Given the description of an element on the screen output the (x, y) to click on. 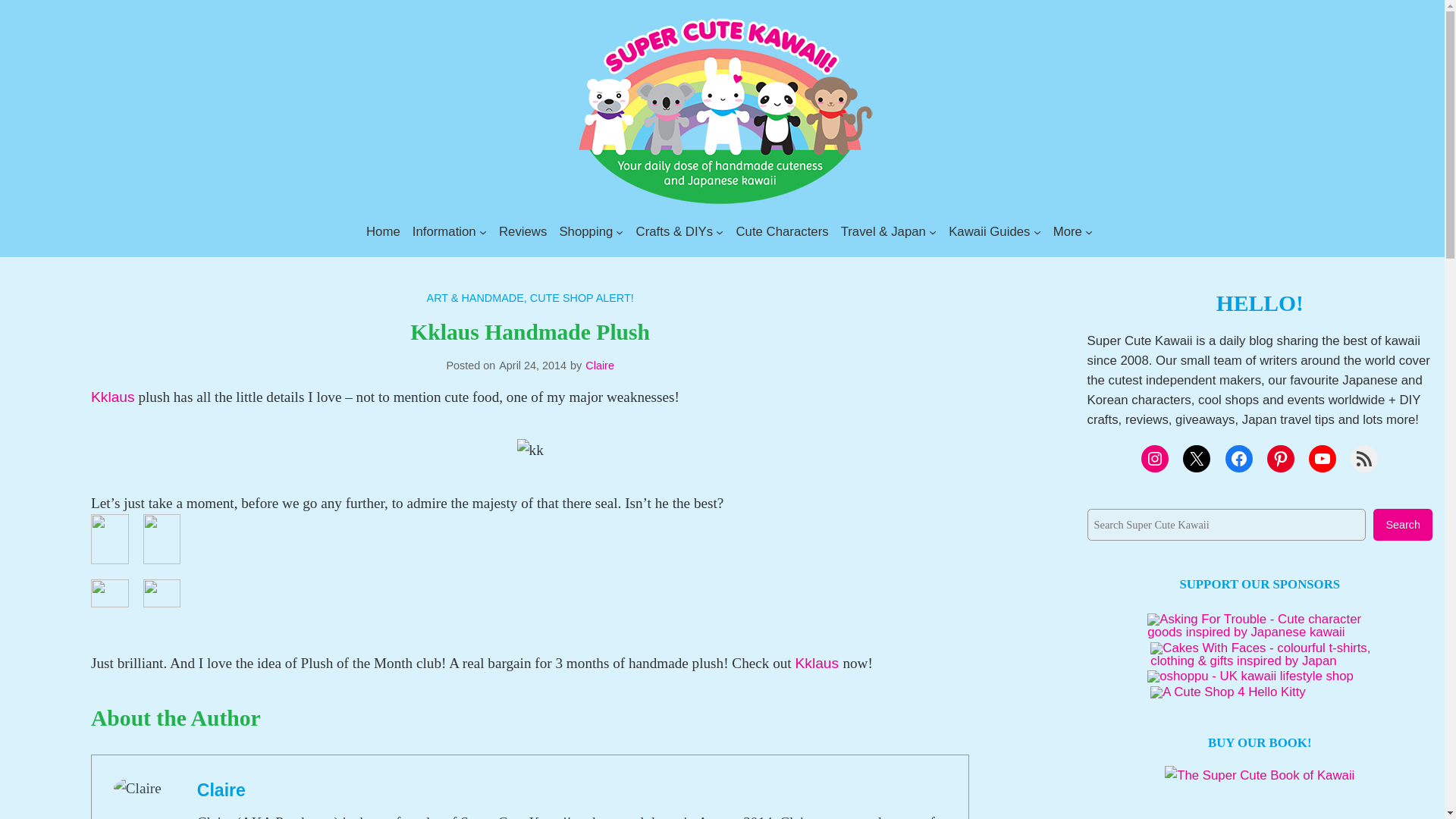
Shopping (585, 231)
Claire (221, 790)
Reviews (523, 231)
Home (383, 231)
Information (444, 231)
